Given the description of an element on the screen output the (x, y) to click on. 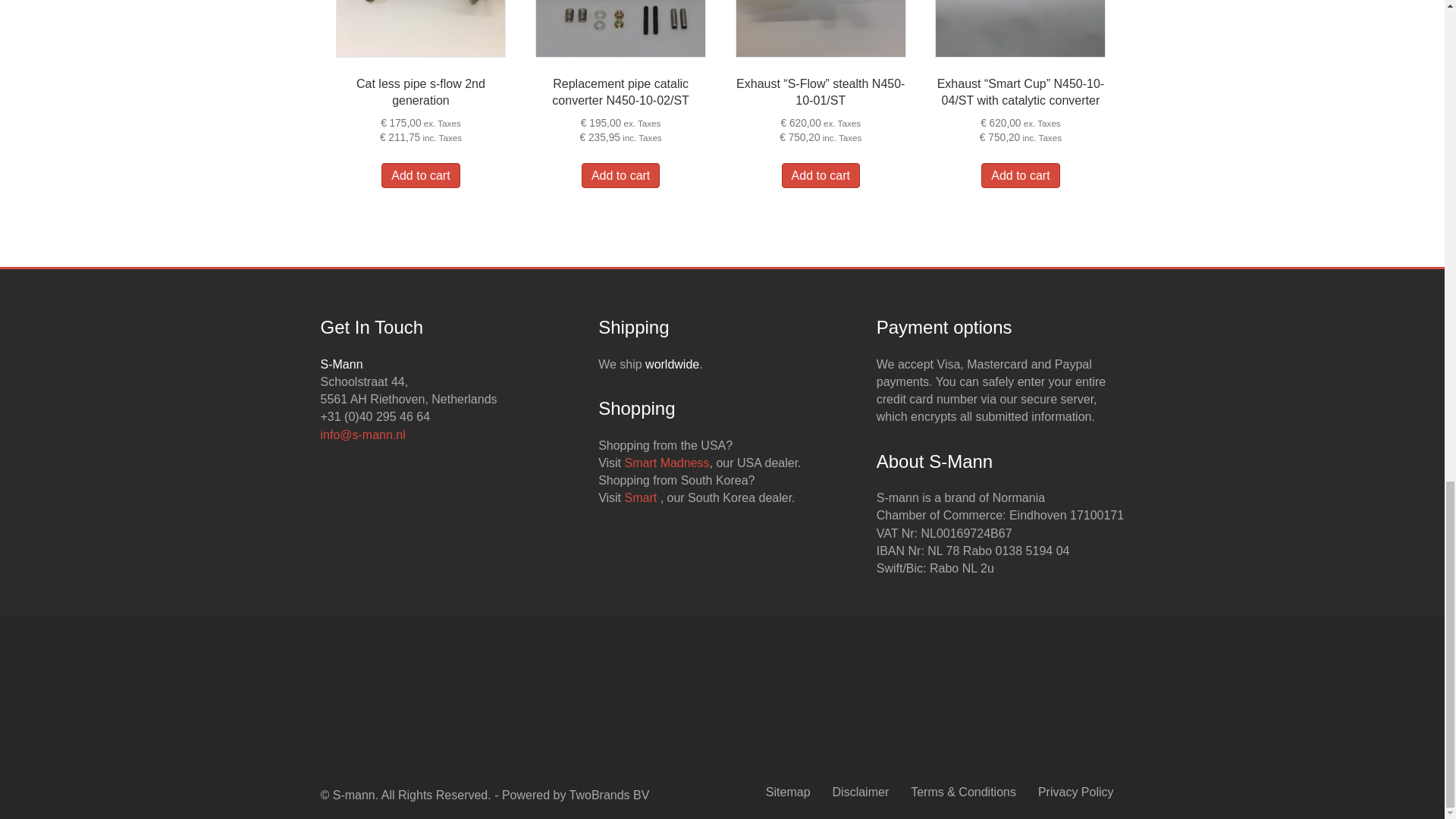
Add to cart (619, 175)
Add to cart (1020, 175)
Add to cart (420, 175)
Add to cart (820, 175)
